Given the description of an element on the screen output the (x, y) to click on. 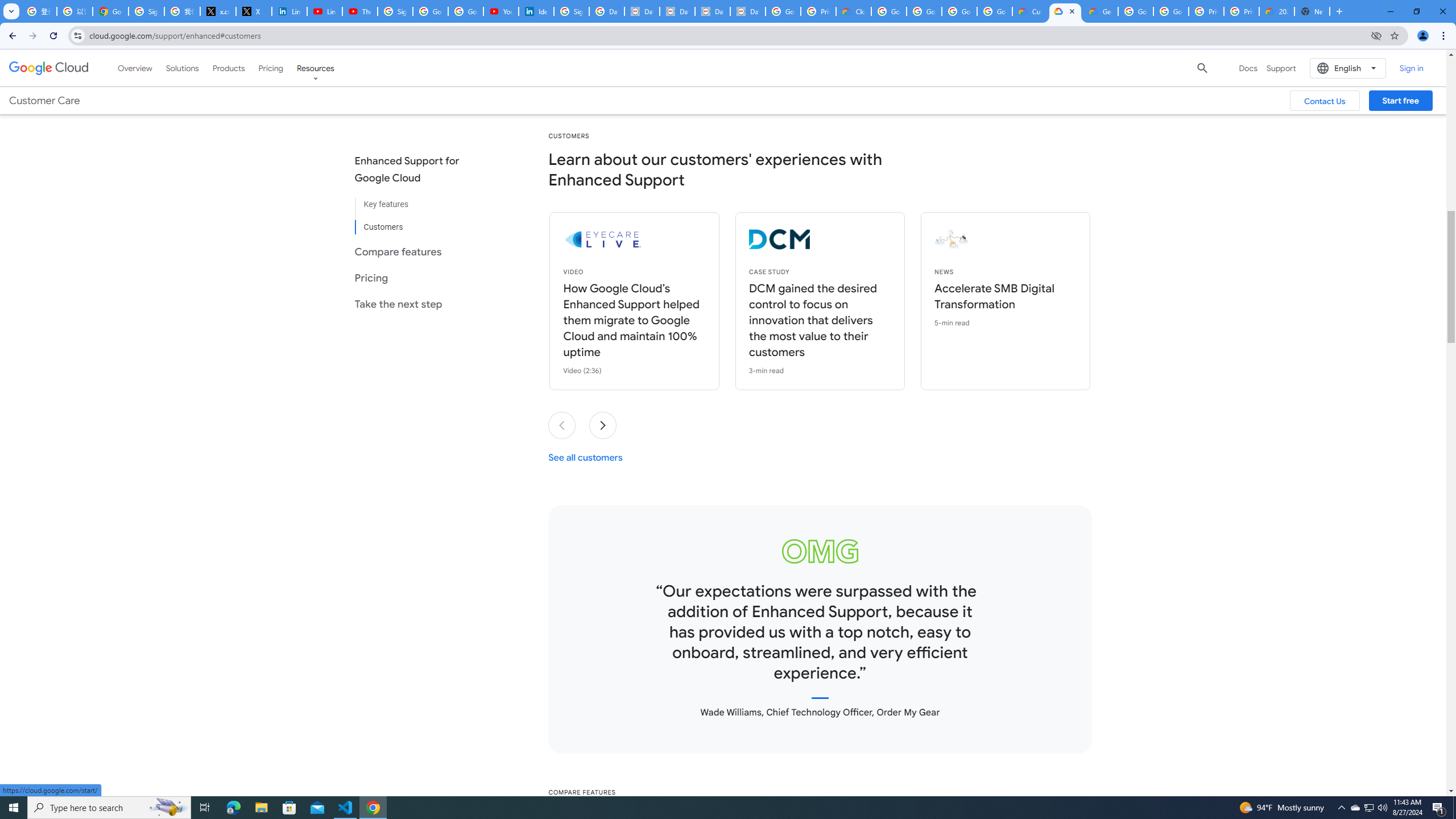
Support (1280, 67)
eyecarelive logo (664, 239)
